Given the description of an element on the screen output the (x, y) to click on. 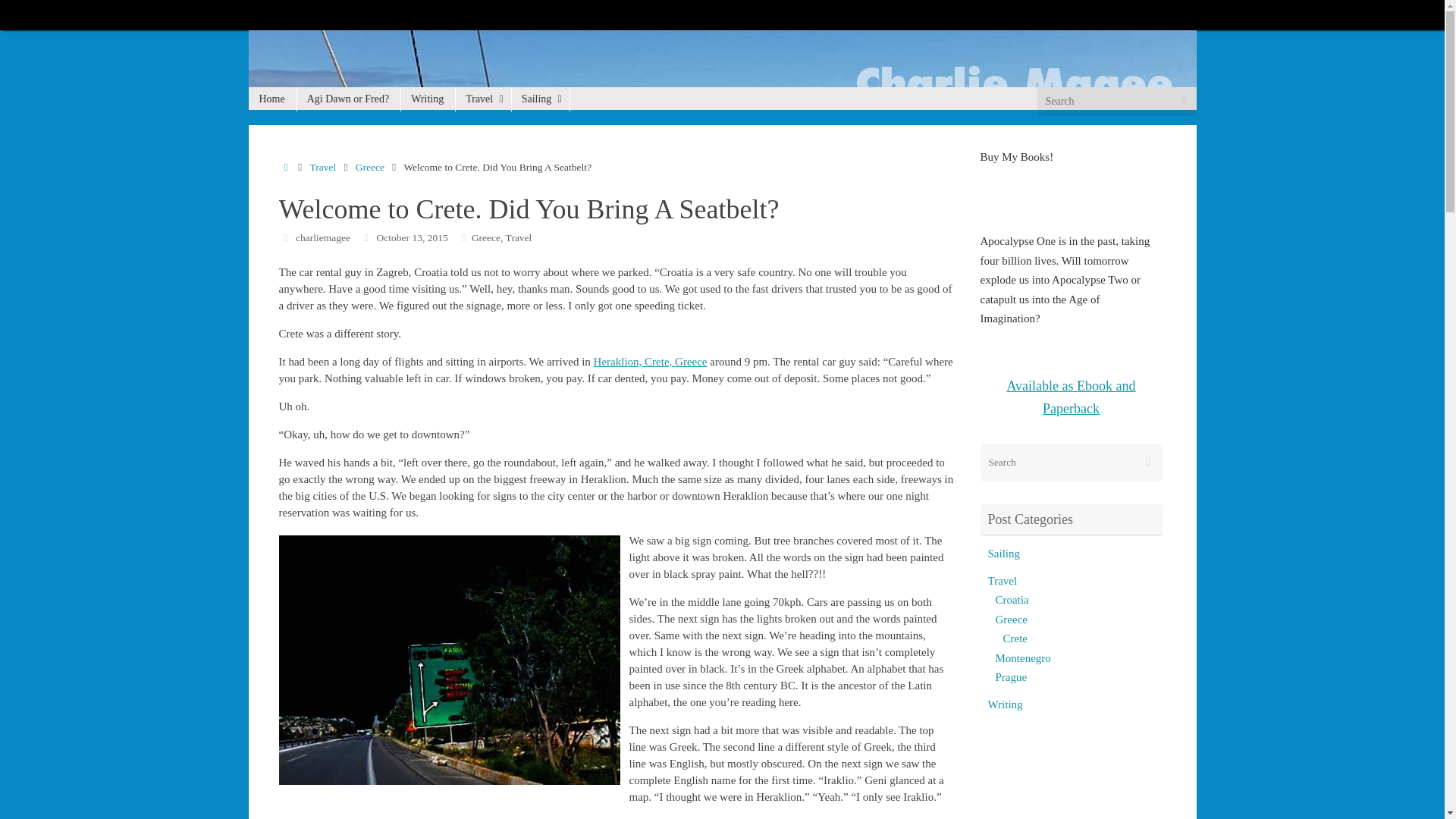
Writing (427, 98)
Home (272, 98)
Heraklion, Crete, Greece (650, 361)
Greece (485, 237)
View all posts by charliemagee (322, 237)
Author  (286, 237)
Date (366, 237)
October 13, 2015 (412, 237)
Sailing (540, 98)
Travel (518, 237)
Greece (369, 166)
Categories (464, 237)
Home (286, 166)
Travel (482, 98)
